Given the description of an element on the screen output the (x, y) to click on. 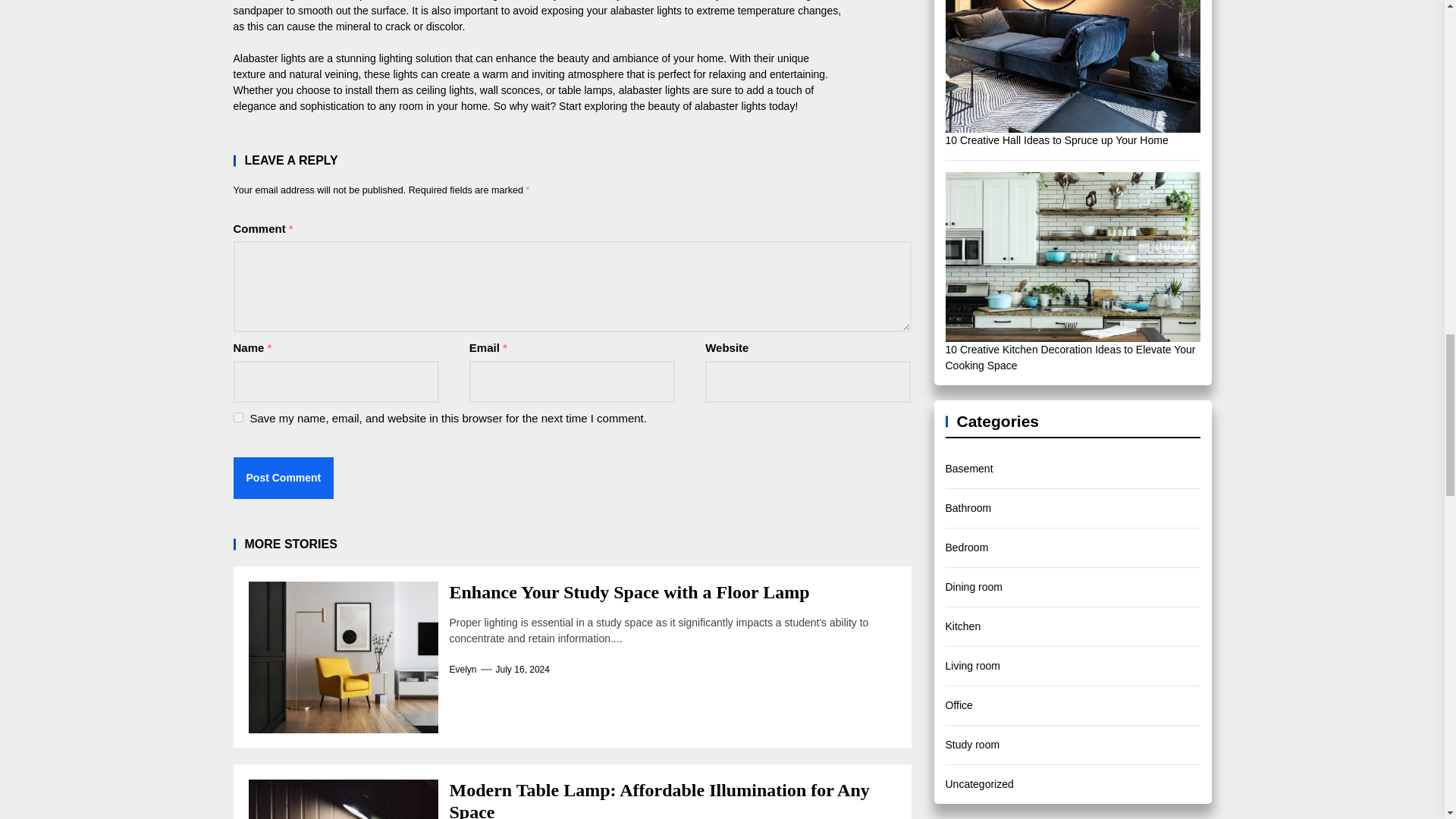
Post Comment (283, 477)
yes (237, 417)
